Given the description of an element on the screen output the (x, y) to click on. 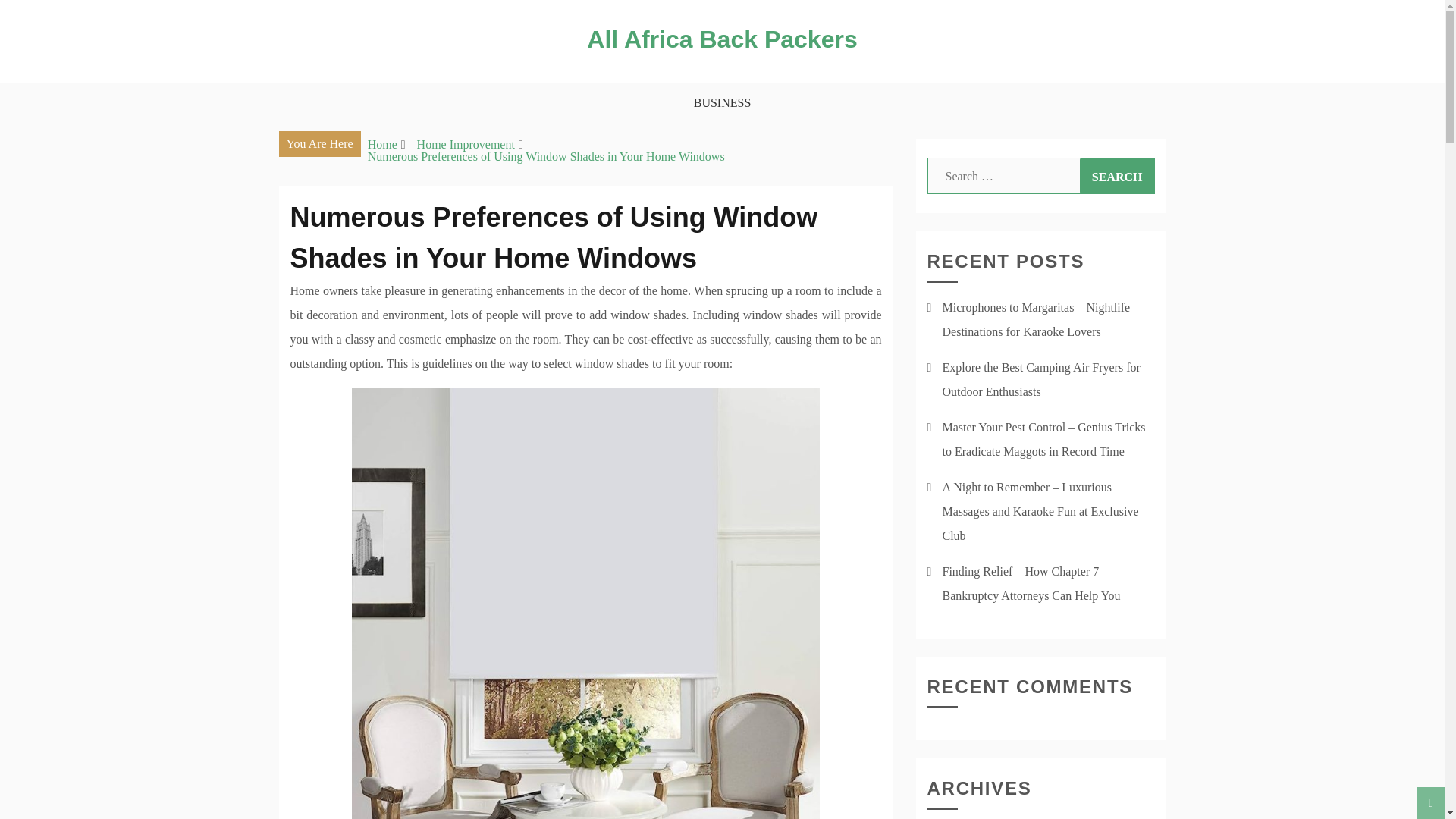
Search (1117, 176)
All Africa Back Packers (721, 39)
Search (1117, 176)
Explore the Best Camping Air Fryers for Outdoor Enthusiasts (1041, 379)
Home (382, 144)
Home Improvement (465, 144)
BUSINESS (722, 102)
Search (1117, 176)
